Given the description of an element on the screen output the (x, y) to click on. 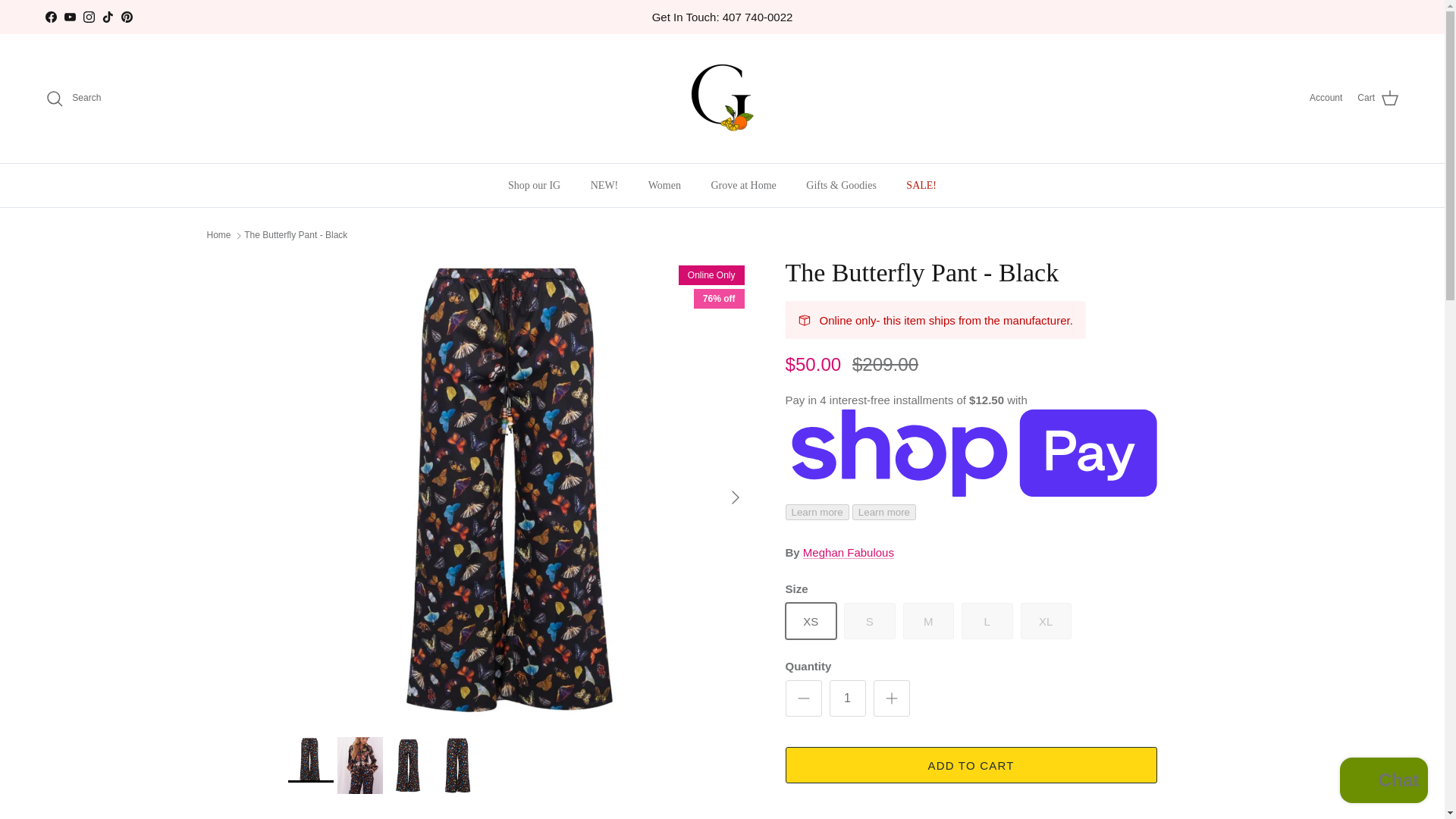
The Grove on TikTok (107, 16)
Pinterest (126, 16)
Women (664, 185)
The Grove on YouTube (69, 16)
NEW! (603, 185)
TikTok (107, 16)
The Grove (721, 98)
The Grove on Pinterest (126, 16)
The Grove on Facebook (50, 16)
The Grove on Instagram (88, 16)
